Given the description of an element on the screen output the (x, y) to click on. 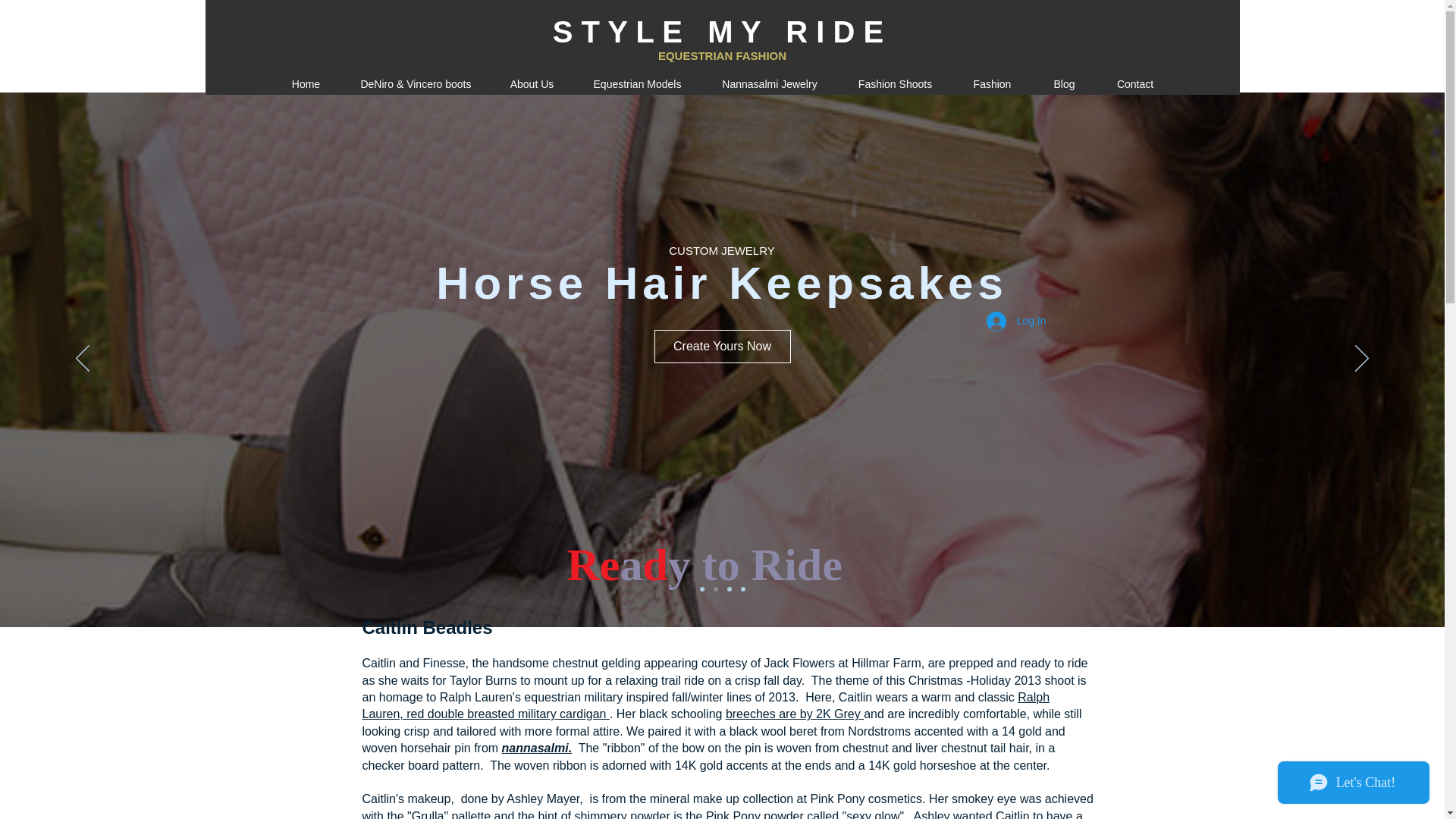
Nannasalmi Jewelry (769, 83)
About Us (531, 83)
Home (304, 83)
